Given the description of an element on the screen output the (x, y) to click on. 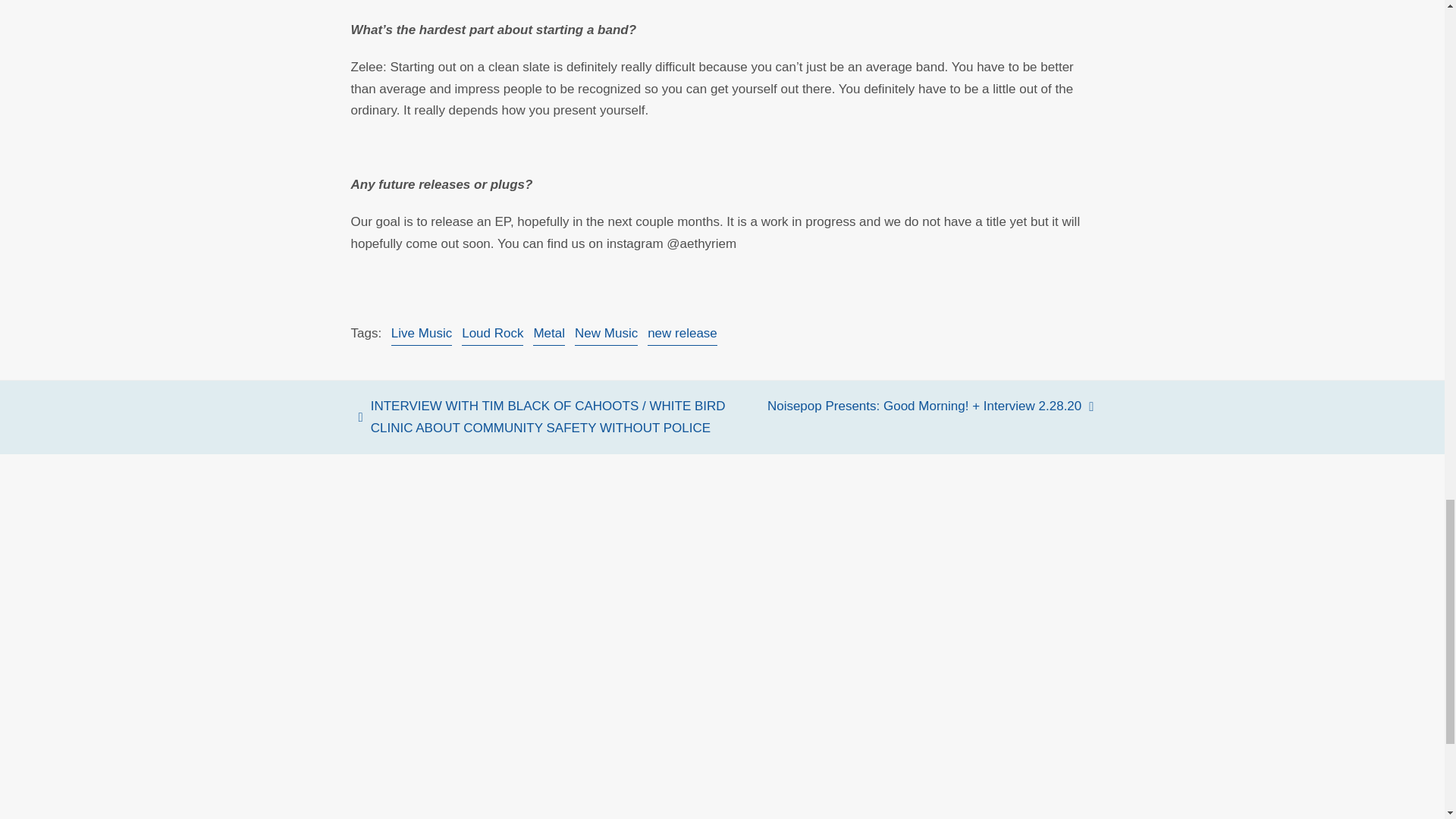
Live Music (421, 333)
